Given the description of an element on the screen output the (x, y) to click on. 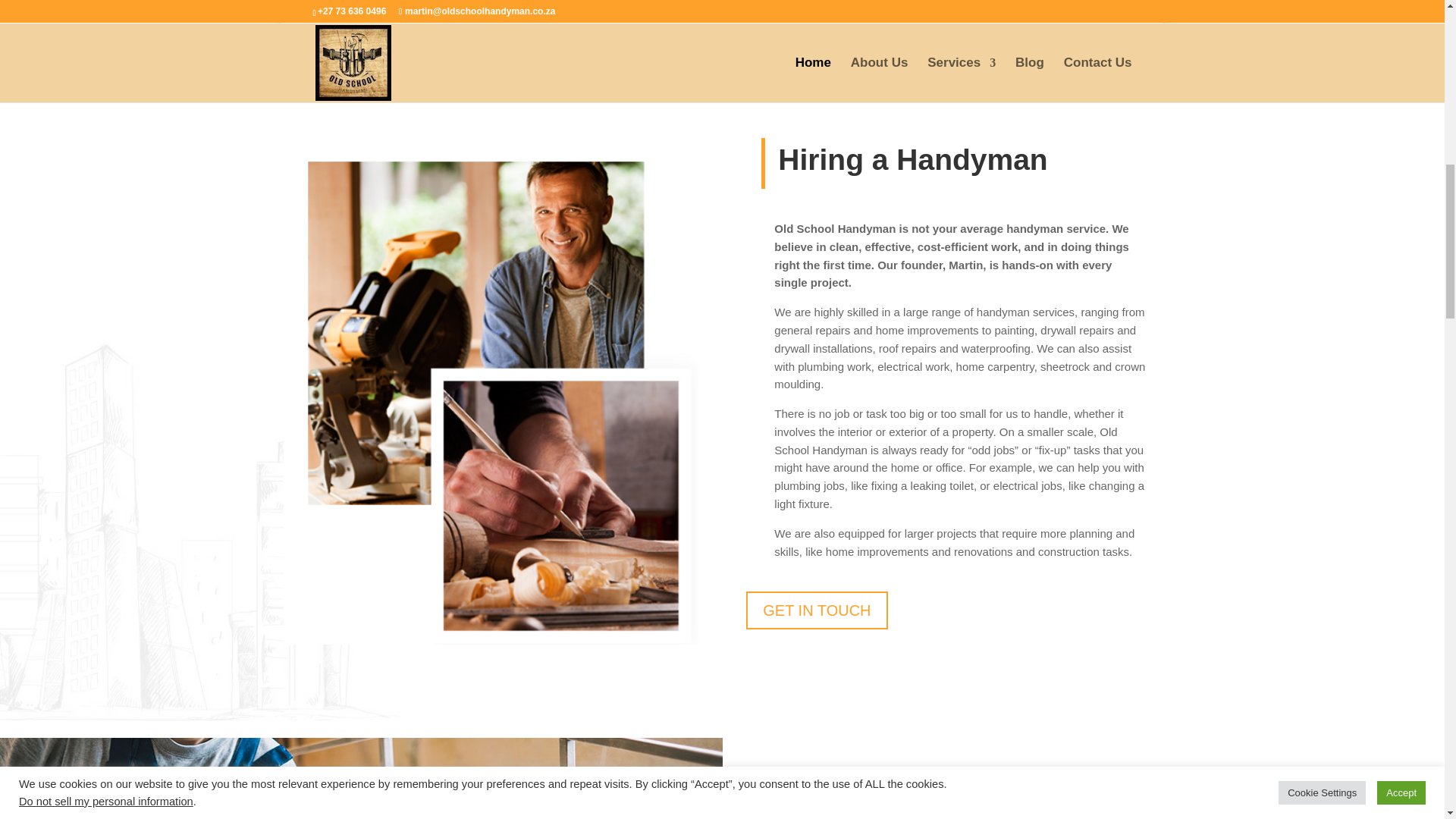
GET IN TOUCH (815, 610)
